Given the description of an element on the screen output the (x, y) to click on. 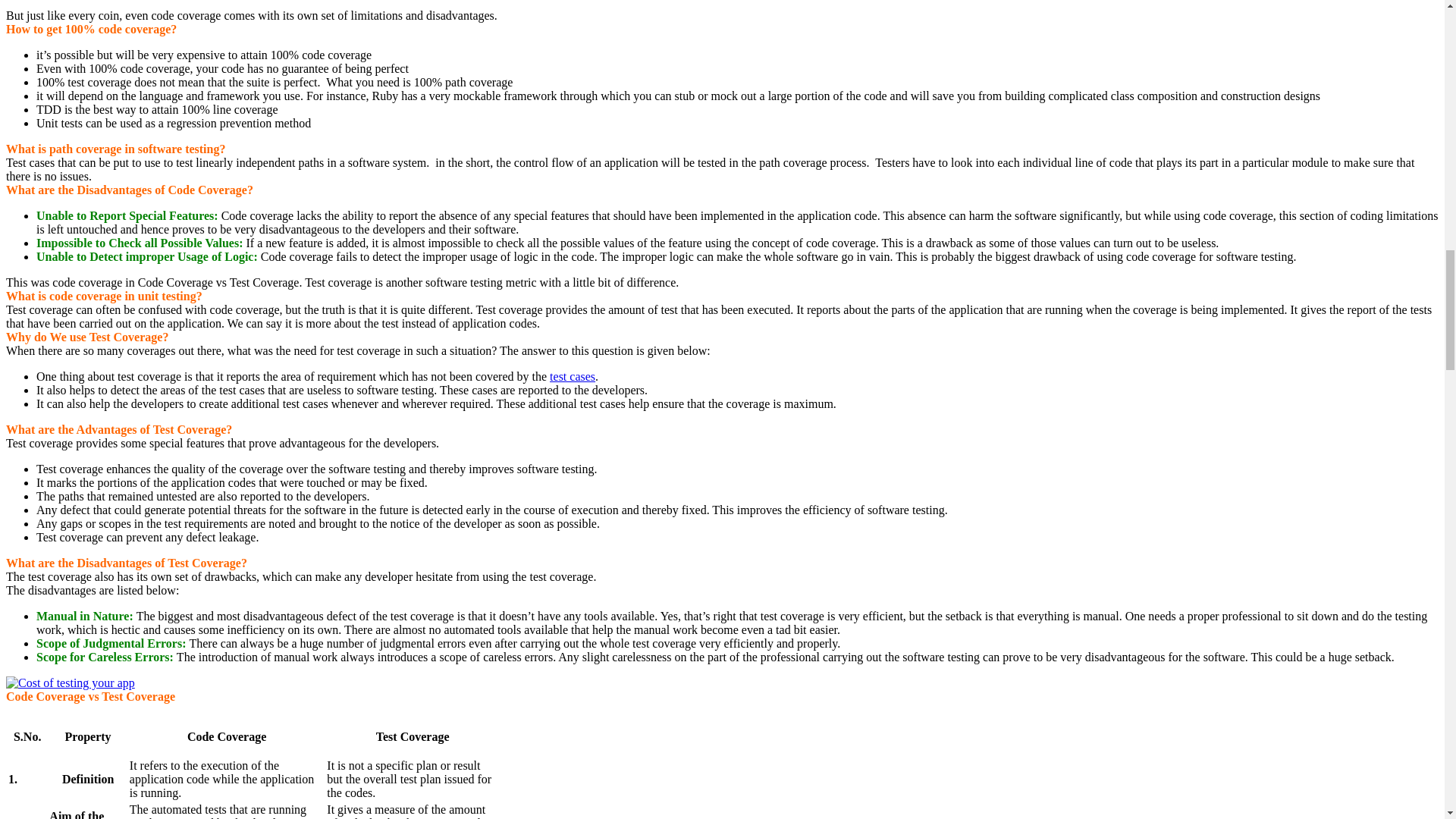
test cases (572, 376)
